Given the description of an element on the screen output the (x, y) to click on. 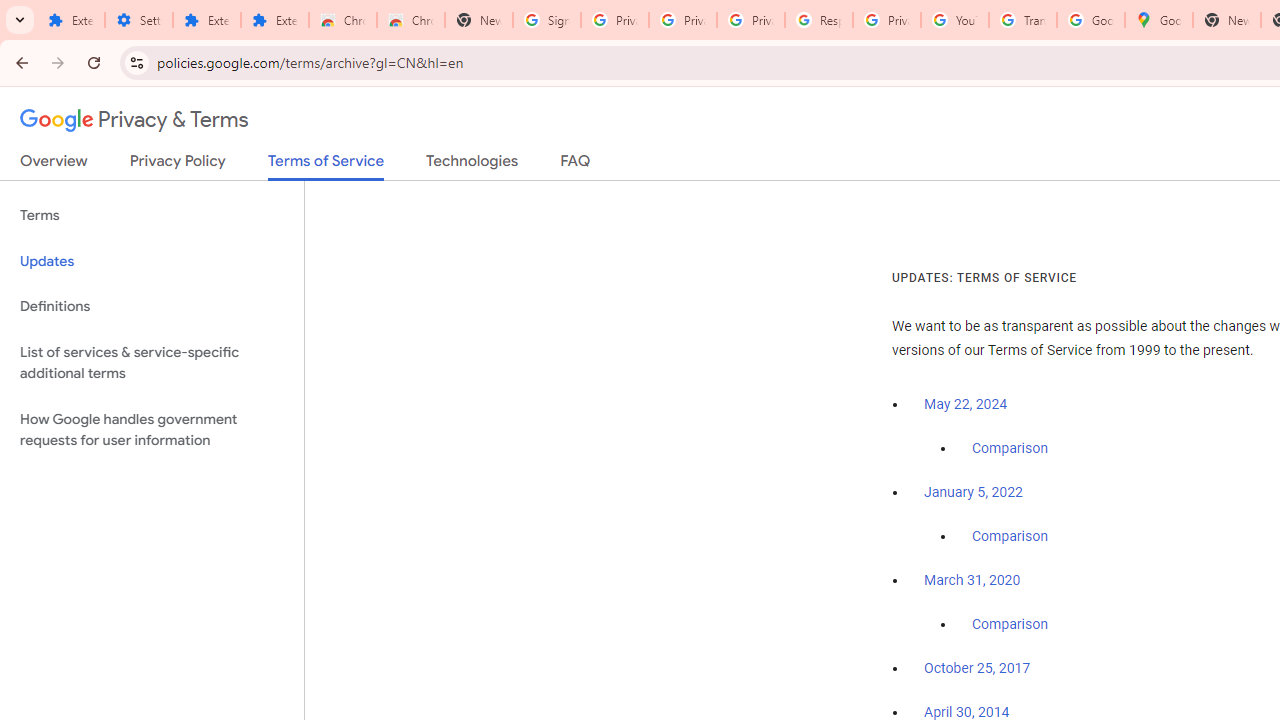
New Tab (479, 20)
March 31, 2020 (972, 580)
Settings (138, 20)
Chrome Web Store - Themes (411, 20)
Comparison (1009, 625)
Sign in - Google Accounts (547, 20)
October 25, 2017 (977, 669)
